Given the description of an element on the screen output the (x, y) to click on. 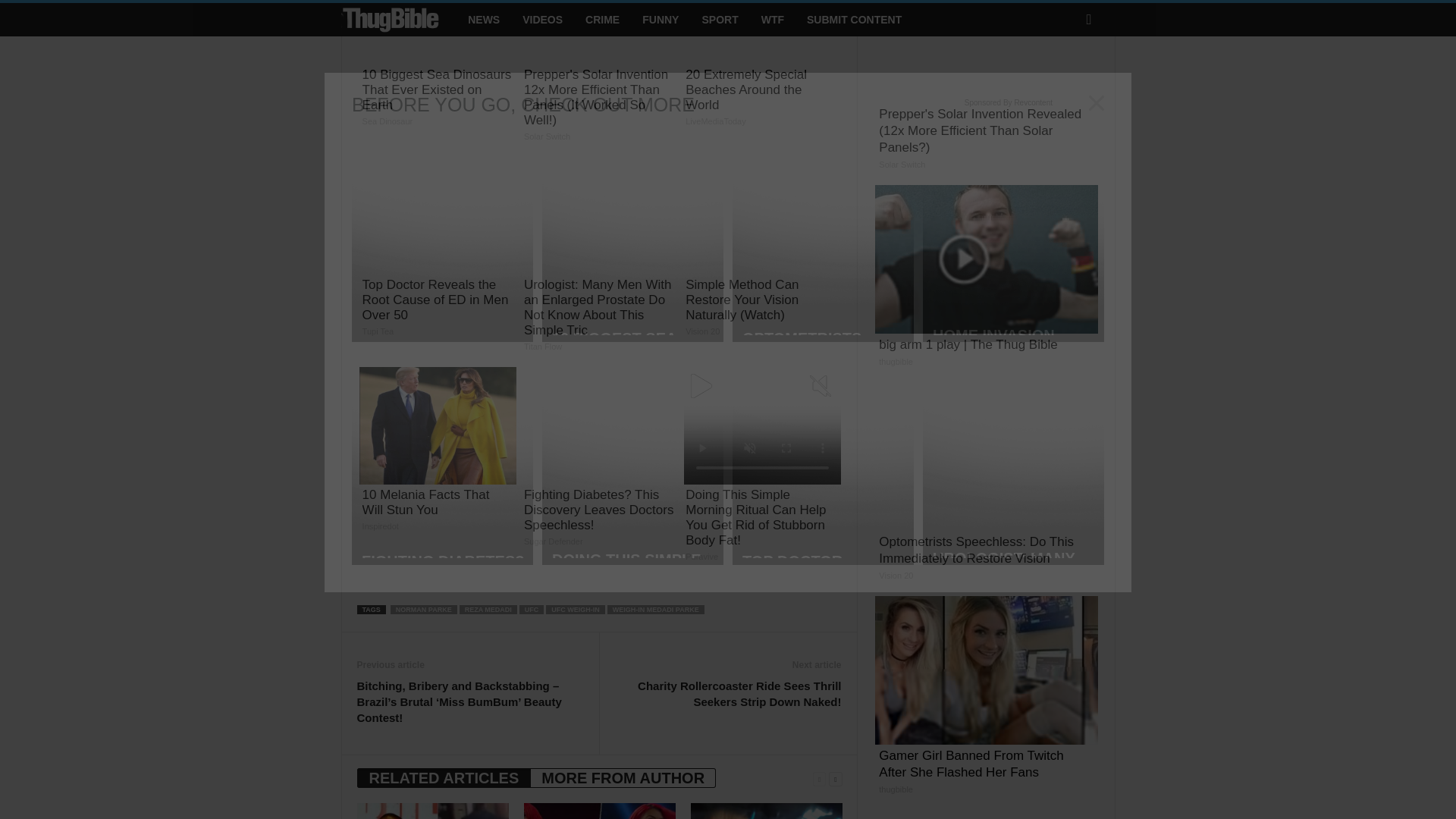
20 Extremely Special Beaches Around the World (761, 68)
10 Biggest Sea Dinosaurs That Ever Existed on Earth (437, 68)
